Given the description of an element on the screen output the (x, y) to click on. 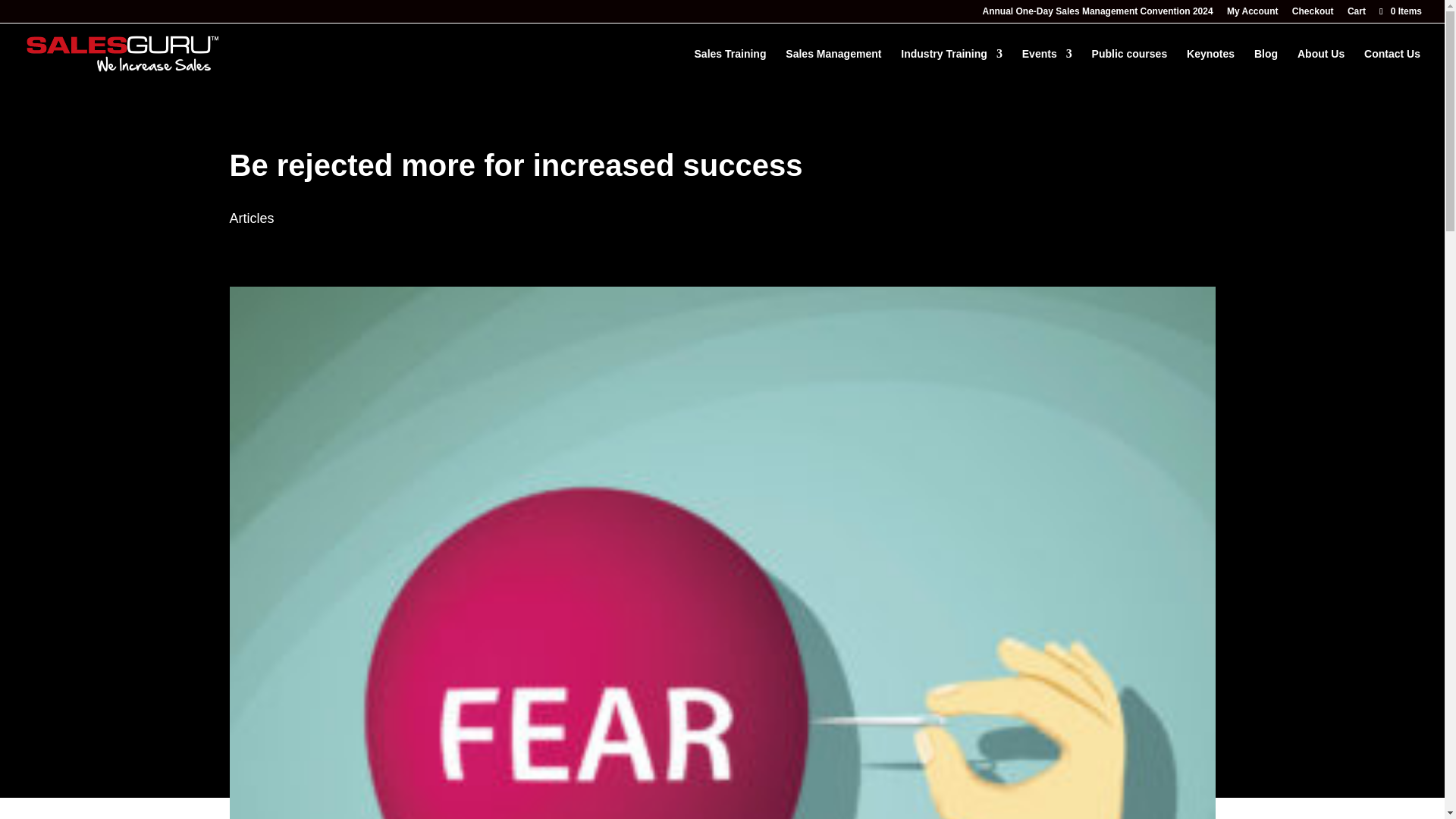
Sales Training (730, 66)
About Us (1320, 66)
Checkout (1312, 14)
Events (1046, 66)
Contact Us (1392, 66)
Sales Management (833, 66)
Annual One-Day Sales Management Convention 2024 (1097, 14)
My Account (1252, 14)
Public courses (1129, 66)
Cart (1356, 14)
